Given the description of an element on the screen output the (x, y) to click on. 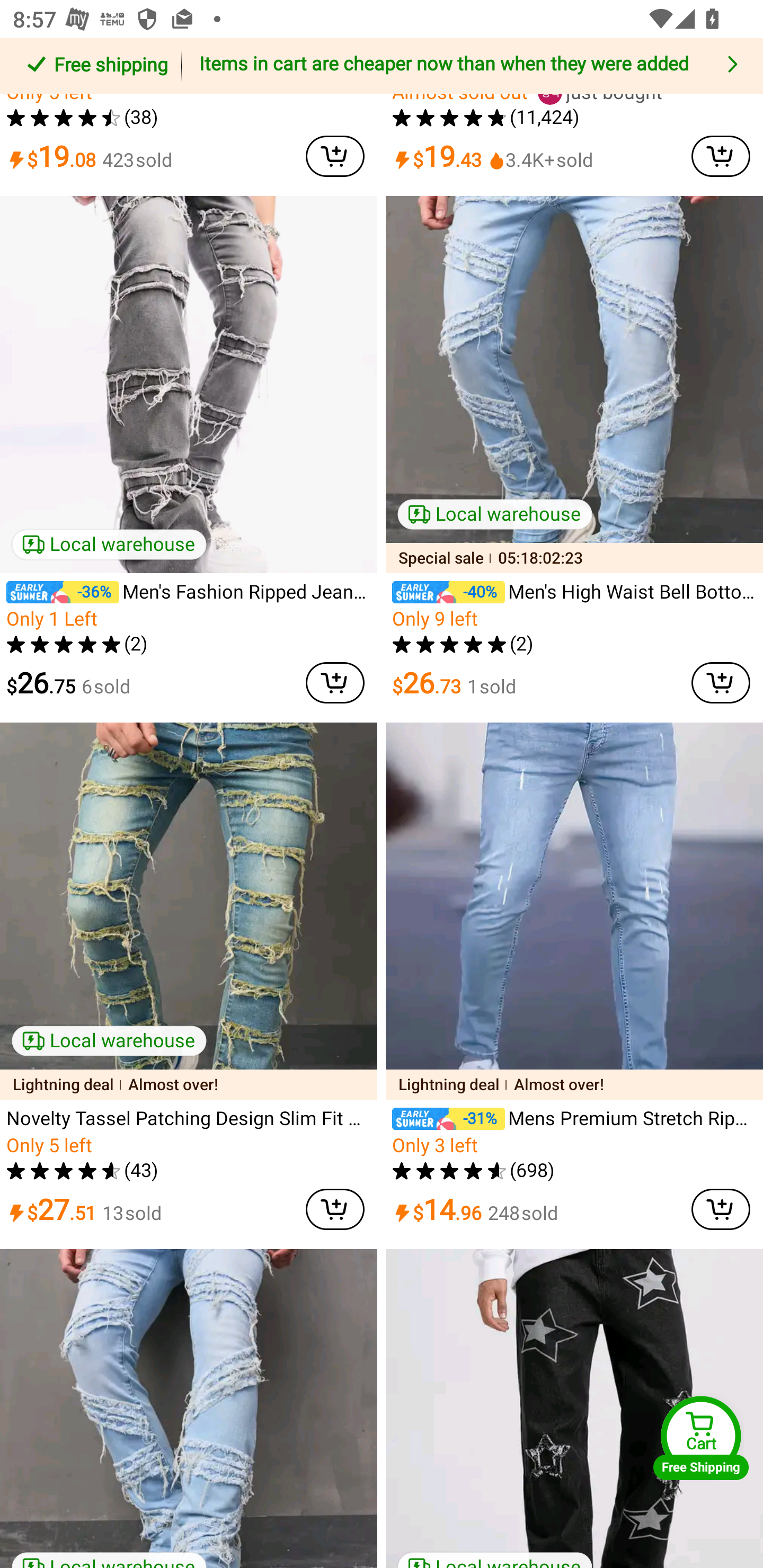
 Free shipping (93, 65)
Cart Free Shipping Cart (701, 1437)
